Given the description of an element on the screen output the (x, y) to click on. 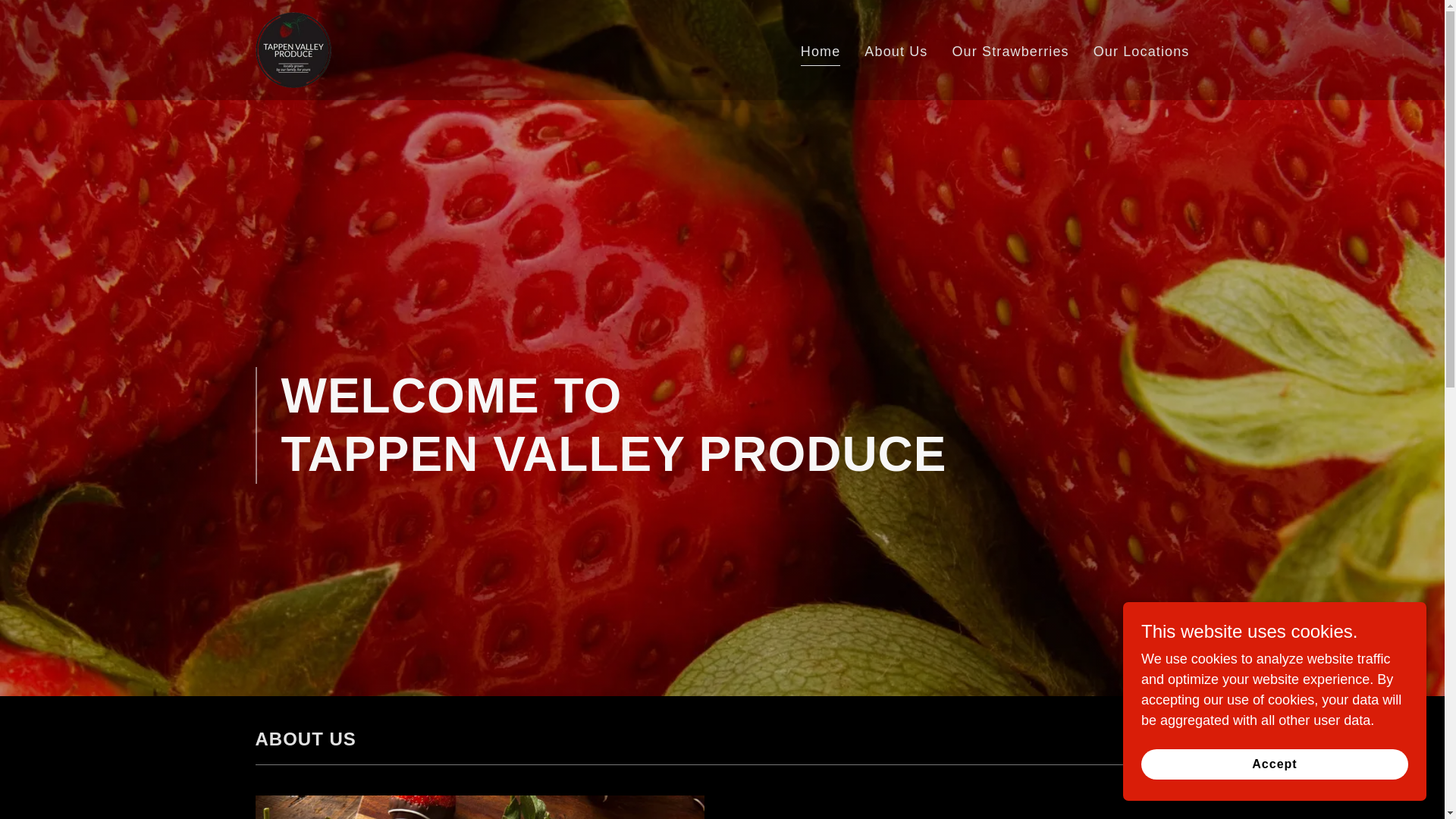
Our Strawberries (1010, 51)
About Us (895, 51)
Home (820, 53)
Tappen Valley Produce (292, 48)
Our Locations (1141, 51)
Accept (1274, 764)
